Given the description of an element on the screen output the (x, y) to click on. 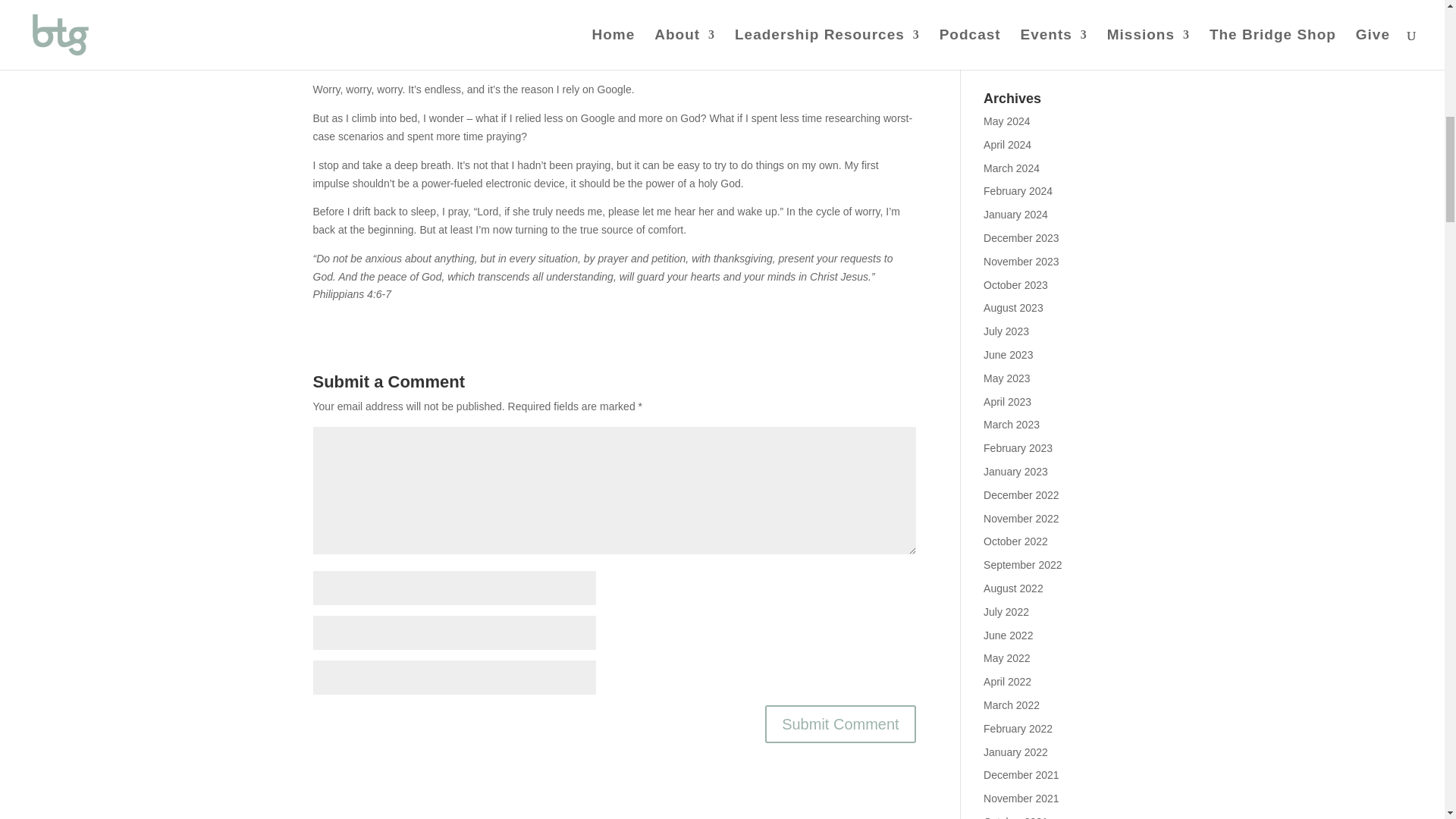
Submit Comment (840, 723)
